Given the description of an element on the screen output the (x, y) to click on. 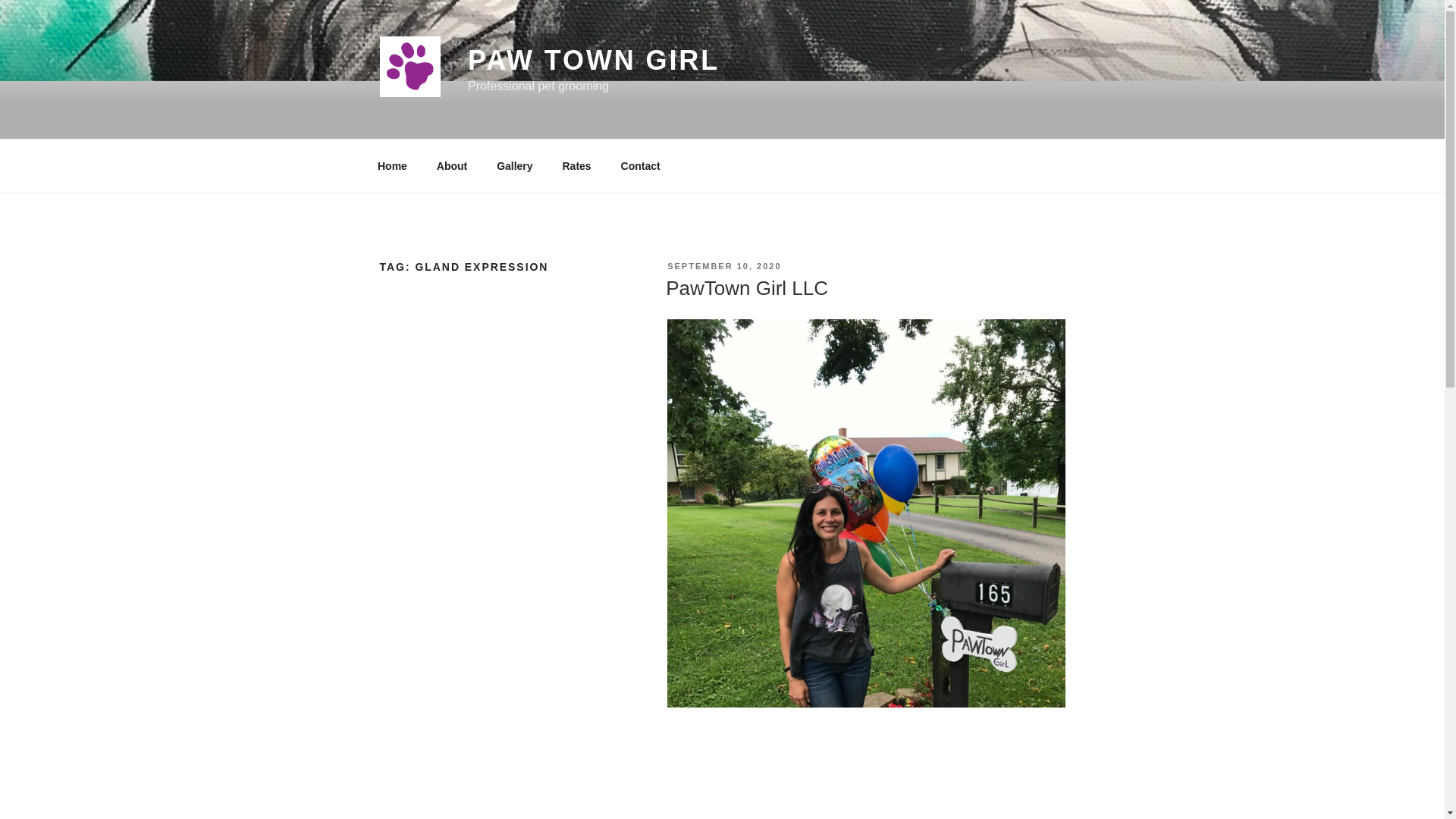
About (451, 165)
Contact (639, 165)
Home (392, 165)
PAW TOWN GIRL (593, 60)
Gallery (514, 165)
SEPTEMBER 10, 2020 (723, 266)
Rates (576, 165)
PawTown Girl LLC (746, 287)
